Given the description of an element on the screen output the (x, y) to click on. 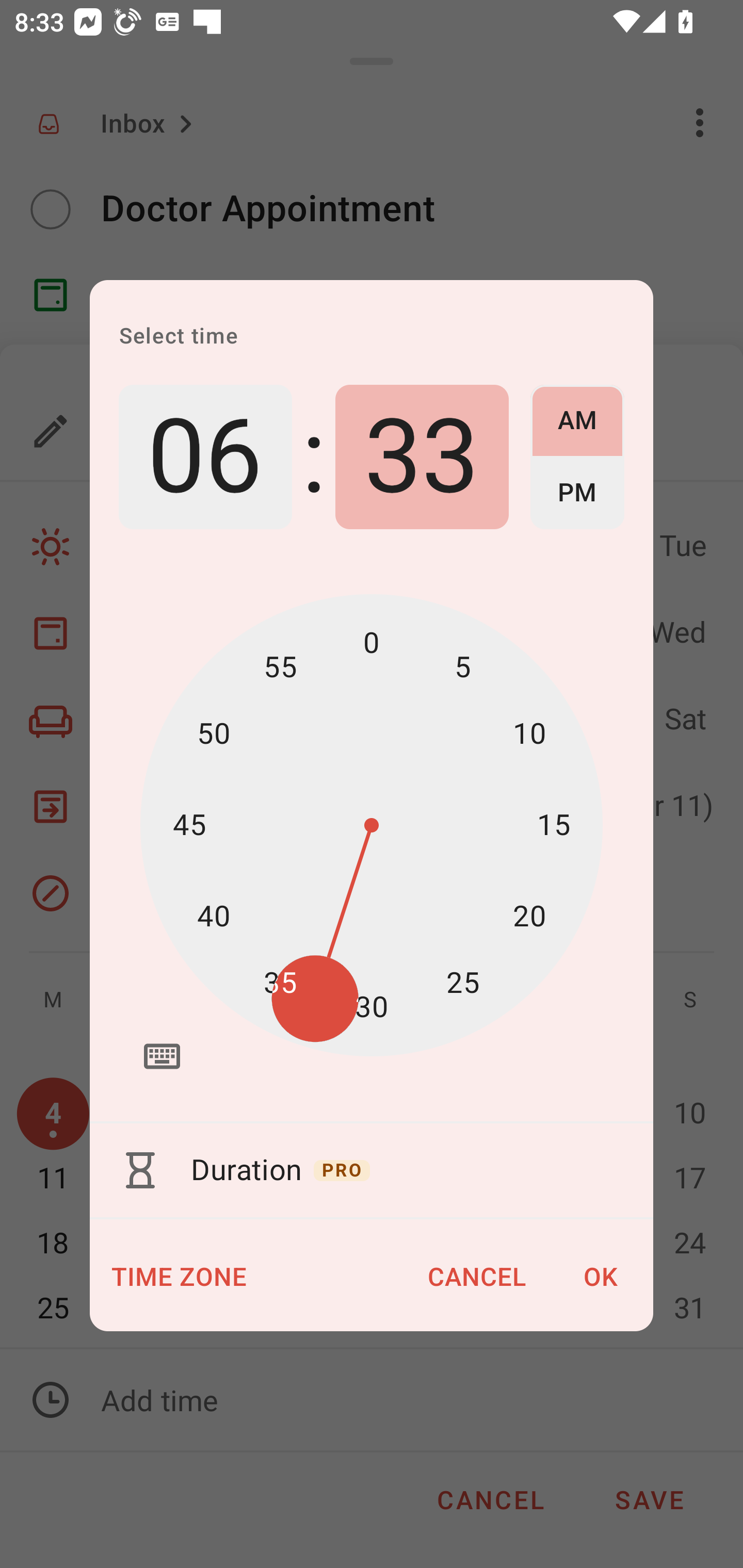
Select hour 06 6 o'clock (204, 456)
PM (577, 493)
0 minutes (371, 643)
55 minutes (280, 667)
5 minutes (462, 667)
50 minutes (213, 733)
10 minutes (528, 733)
45 minutes (189, 825)
15 minutes (553, 825)
40 minutes (213, 916)
20 minutes (528, 916)
35 minutes (280, 983)
25 minutes (462, 983)
30 minutes (371, 1007)
Toggle input mode (161, 1055)
Duration PRO (371, 1170)
TIME ZONE (178, 1277)
CANCEL (477, 1277)
OK (600, 1277)
